Given the description of an element on the screen output the (x, y) to click on. 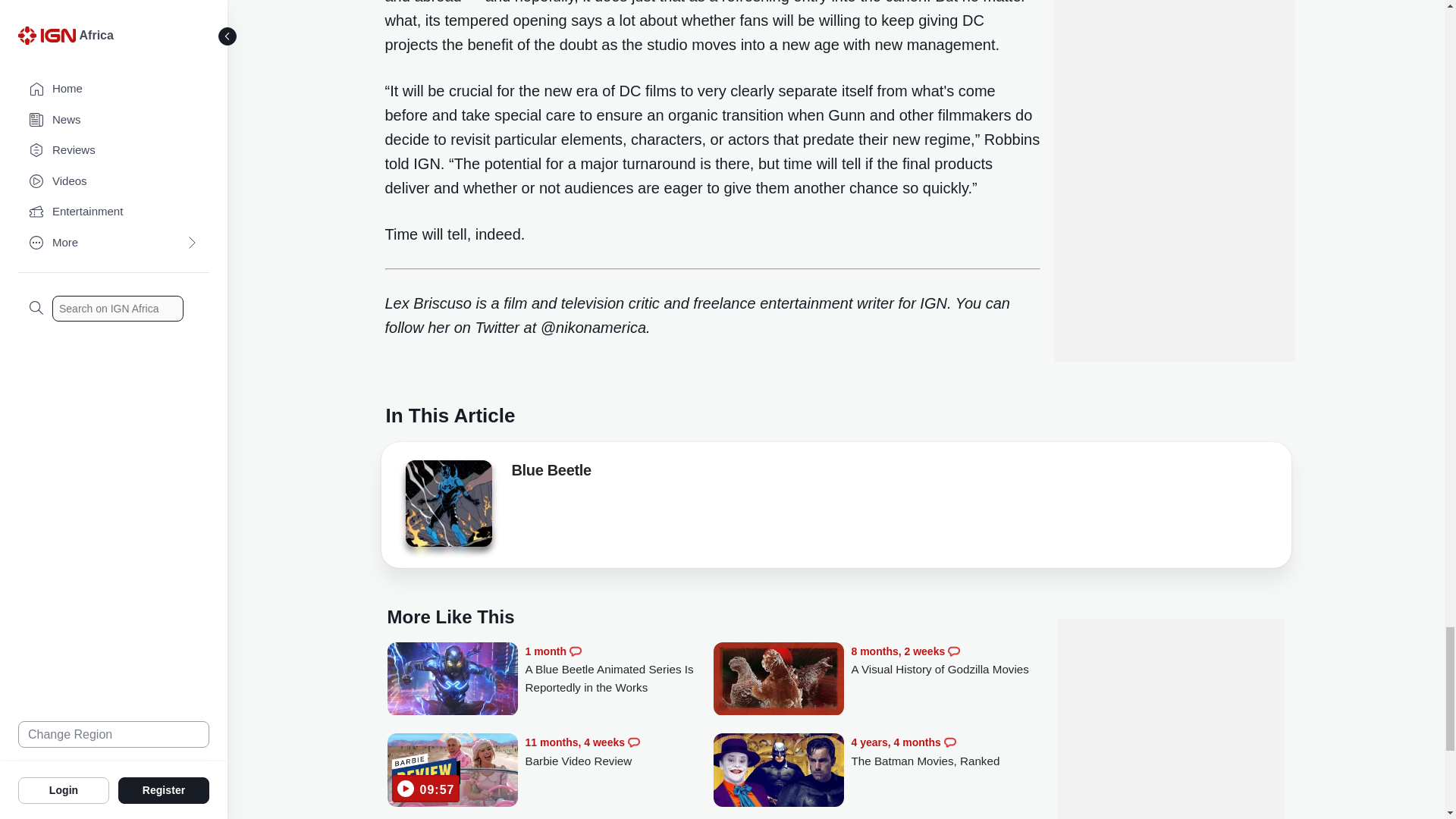
Blue Beetle (551, 472)
Blue Beetle (448, 503)
Comments (633, 742)
Comments (949, 742)
The Batman Movies, Ranked (944, 751)
Barbie Video Review (618, 751)
A Visual History of Godzilla Movies (944, 660)
Comments (574, 651)
A Blue Beetle Animated Series Is Reportedly in the Works (618, 669)
A Blue Beetle Animated Series Is Reportedly in the Works (451, 680)
A Visual History of Godzilla Movies (778, 680)
Barbie Video Review (451, 771)
Blue Beetle (448, 508)
The Batman Movies, Ranked (778, 771)
Comments (953, 651)
